Given the description of an element on the screen output the (x, y) to click on. 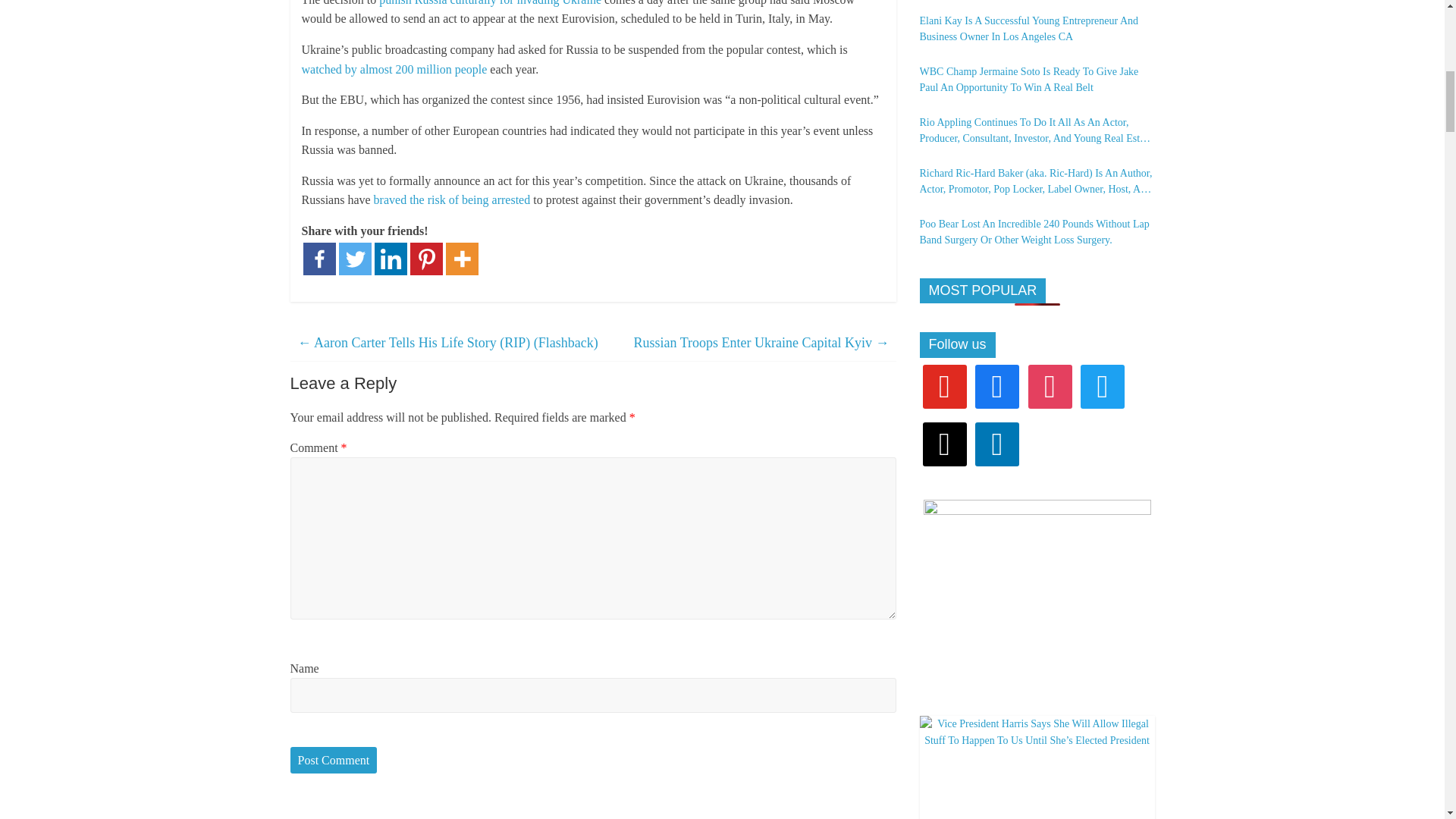
Pinterest (425, 258)
Post Comment (333, 759)
Facebook (997, 385)
braved the risk of being arrested (452, 199)
punish Russia (412, 2)
for invading Ukraine (550, 2)
Linkedin (390, 258)
watched by almost 200 million people (394, 68)
culturally (472, 2)
Twitter (354, 258)
